Given the description of an element on the screen output the (x, y) to click on. 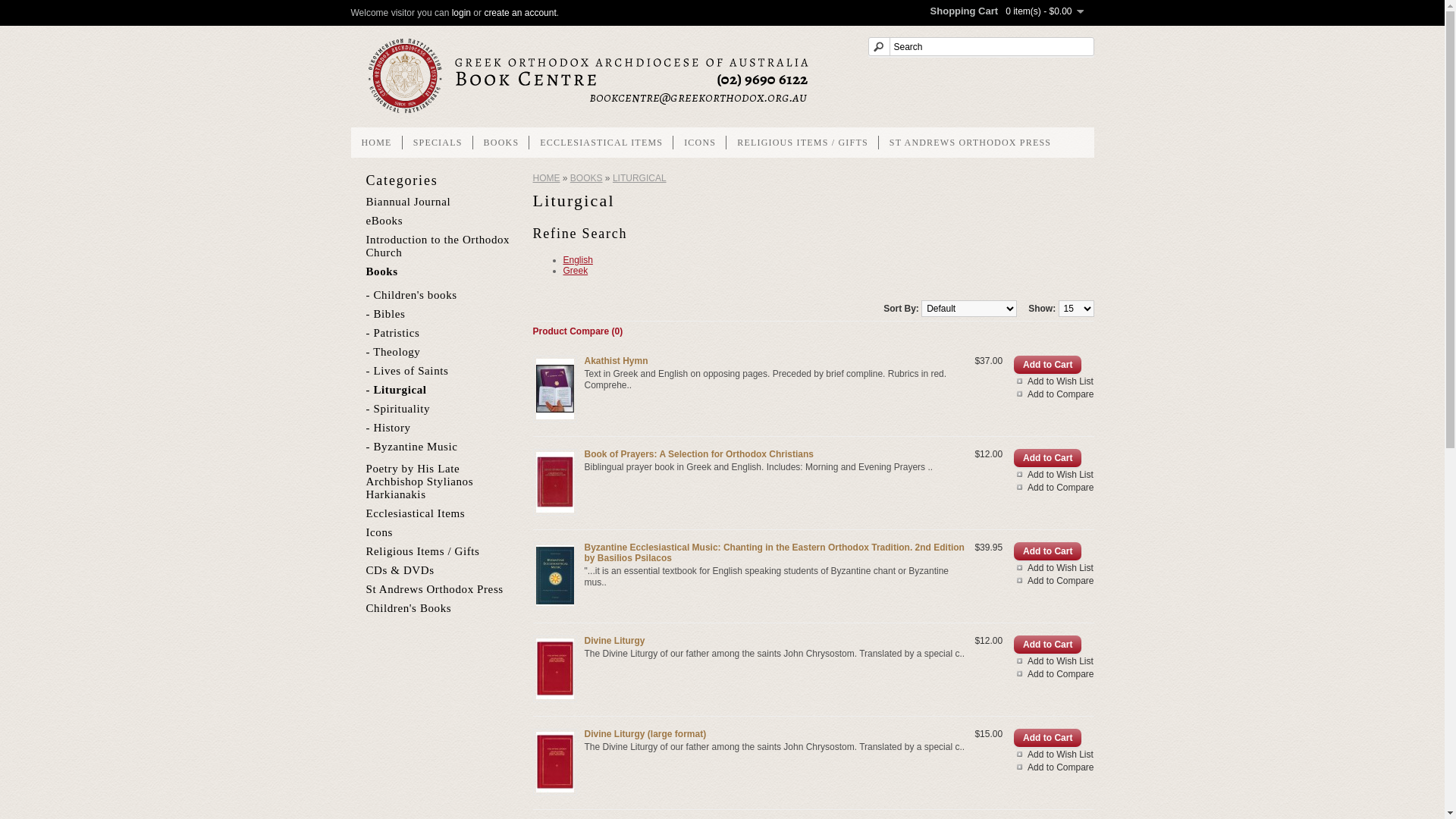
- Byzantine Music Element type: text (441, 446)
English Element type: text (577, 259)
Akathist Hymn Element type: text (615, 360)
Biannual Journal Element type: text (407, 201)
Add to Cart Element type: text (1047, 364)
- Children's books Element type: text (441, 294)
Add to Wish List Element type: text (1053, 381)
Product Compare (0) Element type: text (577, 331)
Icons Element type: text (378, 532)
Akathist Hymn Element type: hover (554, 388)
- Theology Element type: text (441, 351)
0 item(s) - $0.00 Element type: text (1043, 11)
Poetry by His Late Archbishop Stylianos Harkianakis Element type: text (419, 481)
Search Element type: text (980, 46)
Add to Wish List Element type: text (1053, 567)
HOME Element type: text (545, 177)
Add to Compare Element type: text (1053, 673)
Divine Liturgy (large format) Element type: text (644, 733)
Add to Cart Element type: text (1047, 737)
Book of Prayers: A Selection for Orthodox Christians Element type: text (698, 453)
Add to Cart Element type: text (1047, 457)
BOOKS Element type: text (586, 177)
- Bibles Element type: text (441, 313)
- History Element type: text (441, 427)
Book of Prayers: A Selection for Orthodox Christians Element type: hover (554, 481)
Religious Items / Gifts Element type: text (422, 551)
SPECIALS Element type: text (437, 142)
eBooks Element type: text (383, 220)
ICONS Element type: text (699, 142)
- Lives of Saints Element type: text (441, 370)
LITURGICAL Element type: text (639, 177)
Add to Compare Element type: text (1053, 580)
Divine Liturgy Element type: text (613, 640)
Divine Liturgy Element type: hover (554, 668)
ST ANDREWS ORTHODOX PRESS Element type: text (969, 142)
HOME Element type: text (375, 142)
Ecclesiastical Items Element type: text (414, 513)
Books Element type: text (381, 271)
Add to Cart Element type: text (1047, 644)
Add to Compare Element type: text (1053, 487)
CDs & DVDs Element type: text (399, 570)
Greek Element type: text (574, 270)
create an account Element type: text (519, 12)
Divine Liturgy (large format) Element type: hover (554, 761)
- Liturgical Element type: text (441, 389)
Add to Compare Element type: text (1053, 394)
- Patristics Element type: text (441, 332)
St Andrews Orthodox Press Element type: text (433, 589)
Add to Wish List Element type: text (1053, 474)
- Spirituality Element type: text (441, 408)
BOOKS Element type: text (501, 142)
RELIGIOUS ITEMS / GIFTS Element type: text (802, 142)
Introduction to the Orthodox Church Element type: text (437, 245)
login Element type: text (460, 12)
Add to Cart Element type: text (1047, 551)
Add to Wish List Element type: text (1053, 754)
Add to Compare Element type: text (1053, 767)
ECCLESIASTICAL ITEMS Element type: text (601, 142)
Children's Books Element type: text (408, 608)
Add to Wish List Element type: text (1053, 660)
